Given the description of an element on the screen output the (x, y) to click on. 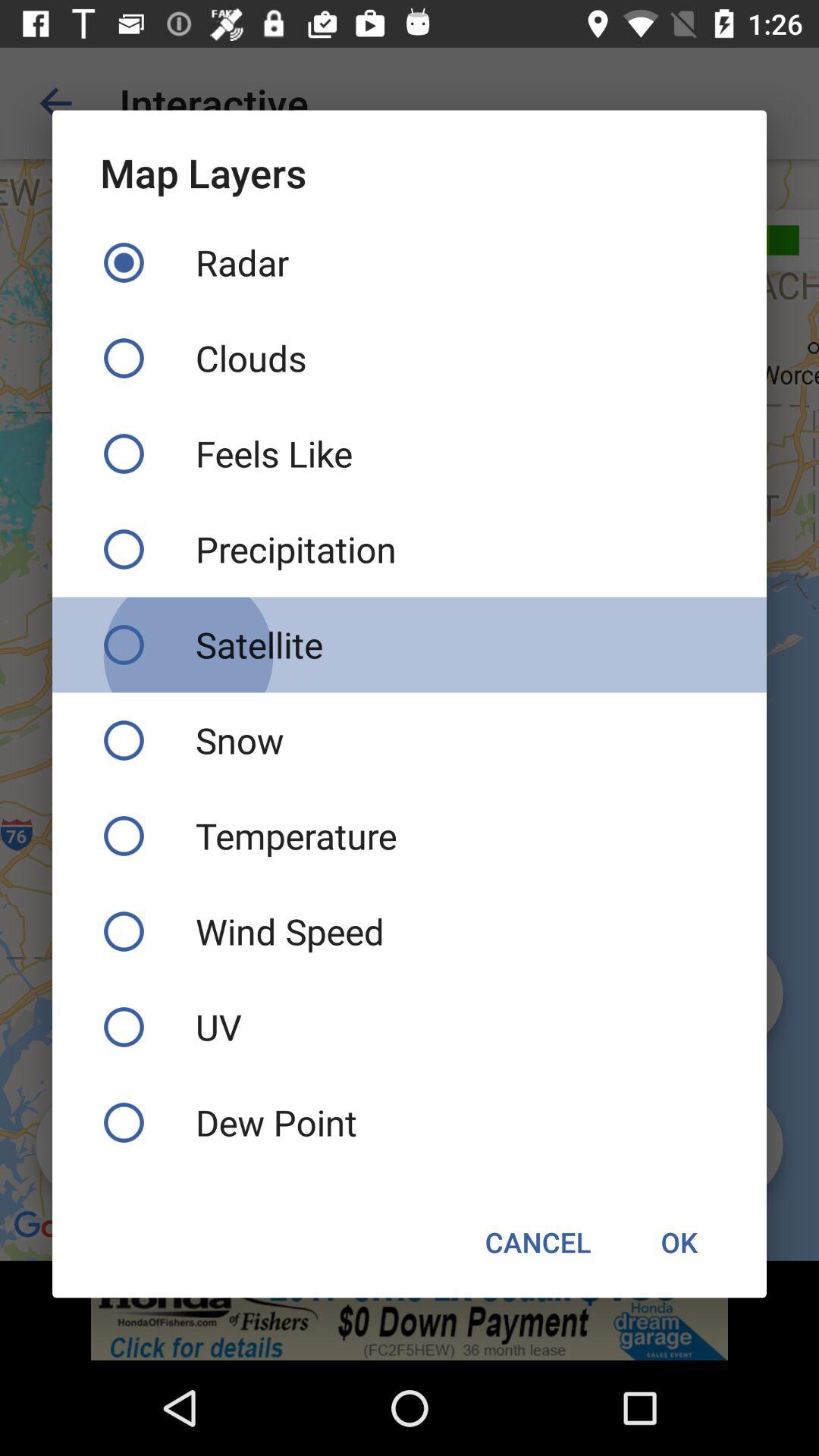
turn off item at the bottom right corner (678, 1241)
